Given the description of an element on the screen output the (x, y) to click on. 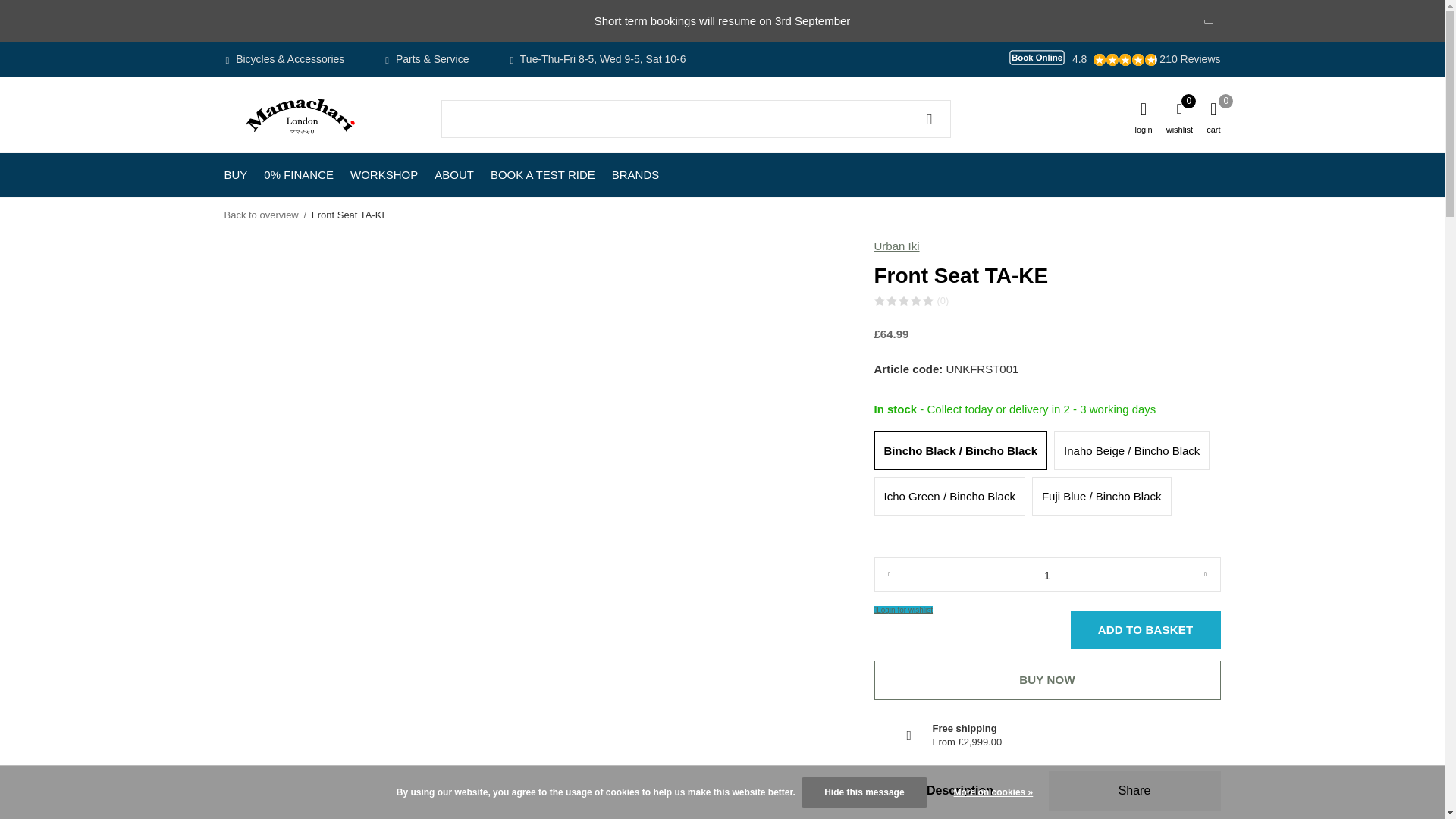
1 (1046, 574)
Hide this message (864, 792)
More on cookies (993, 792)
BUY (235, 174)
